Given the description of an element on the screen output the (x, y) to click on. 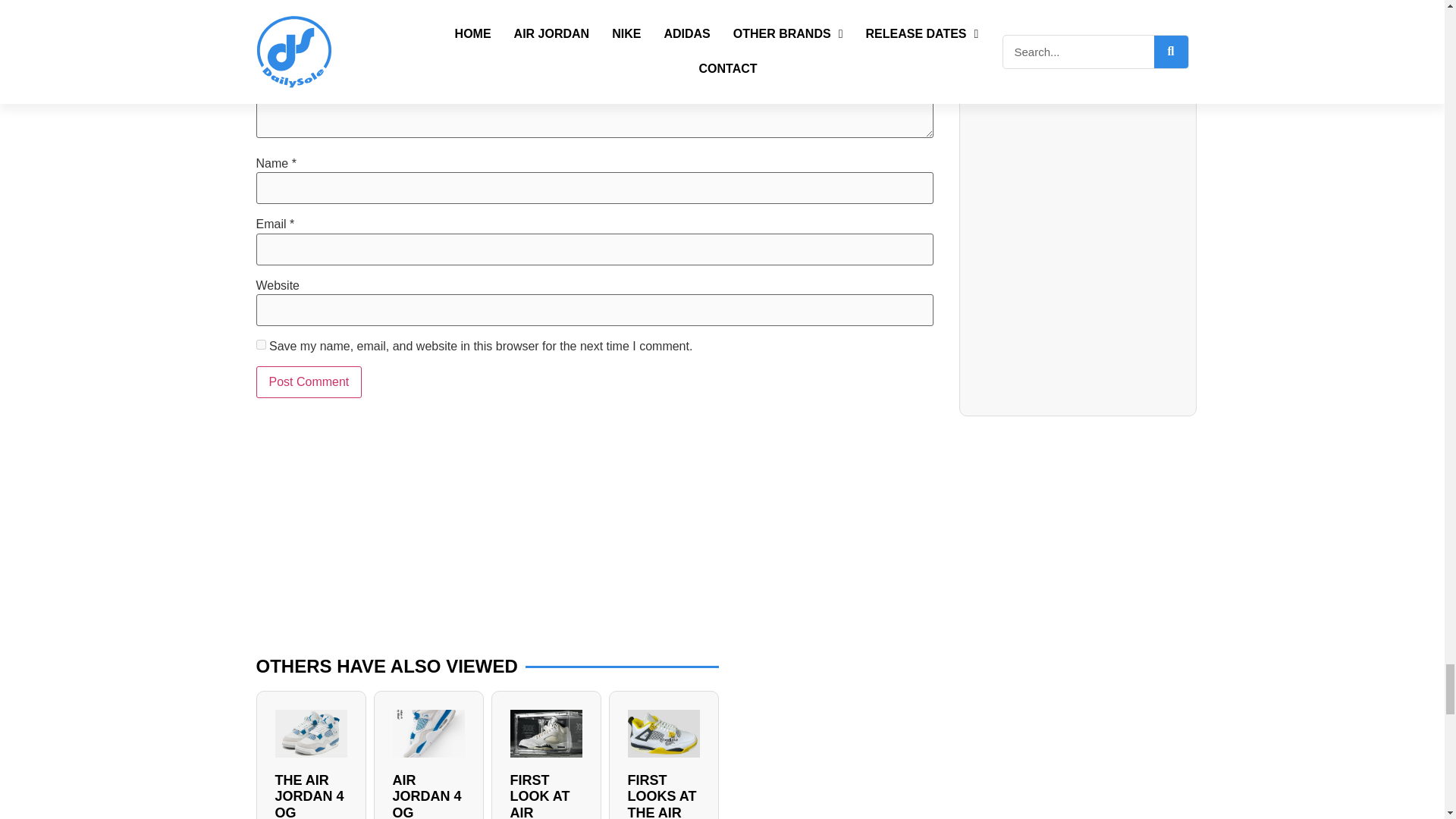
Post Comment (309, 382)
yes (261, 344)
